Given the description of an element on the screen output the (x, y) to click on. 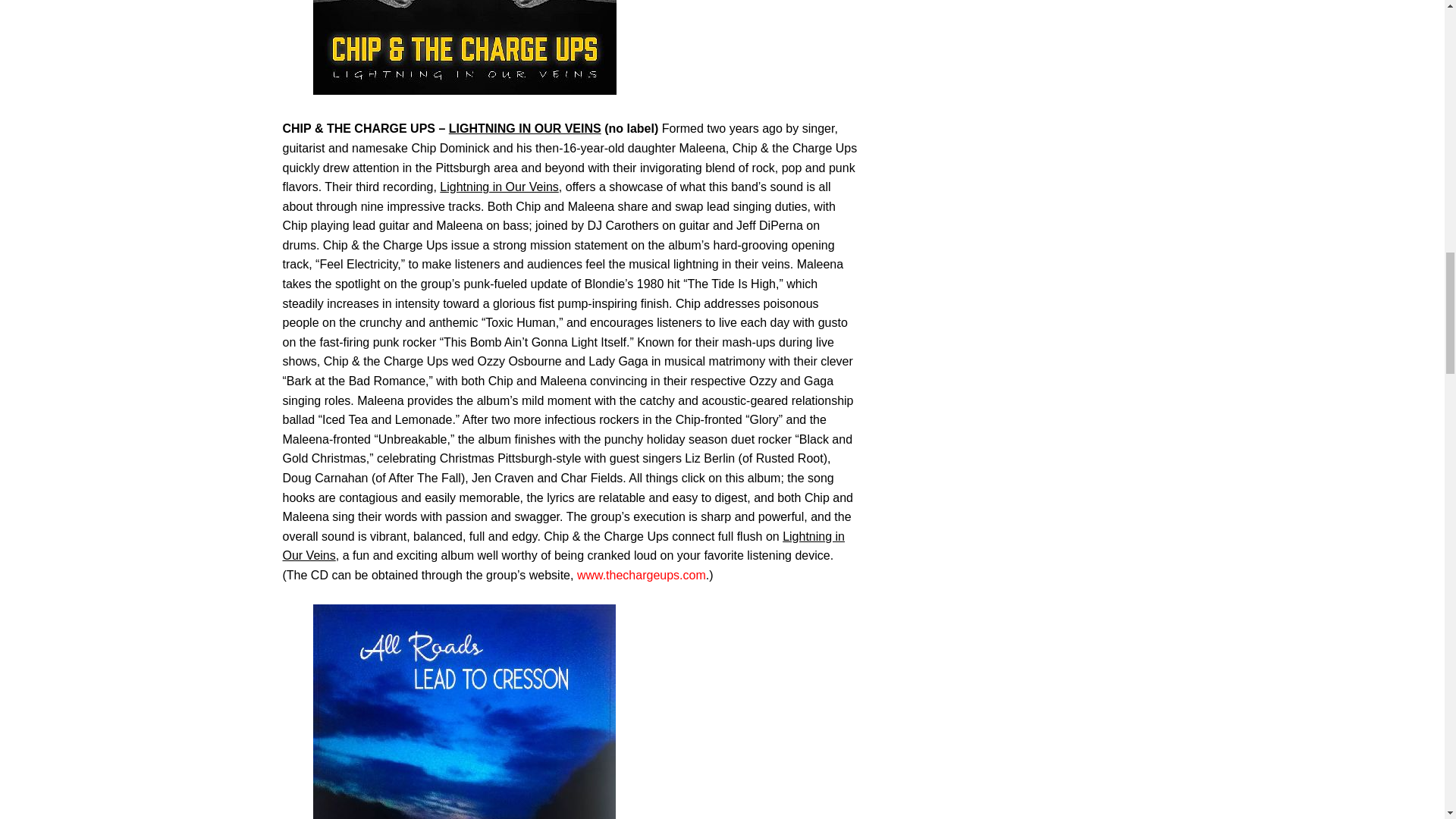
www.thechargeups.com (641, 574)
